Given the description of an element on the screen output the (x, y) to click on. 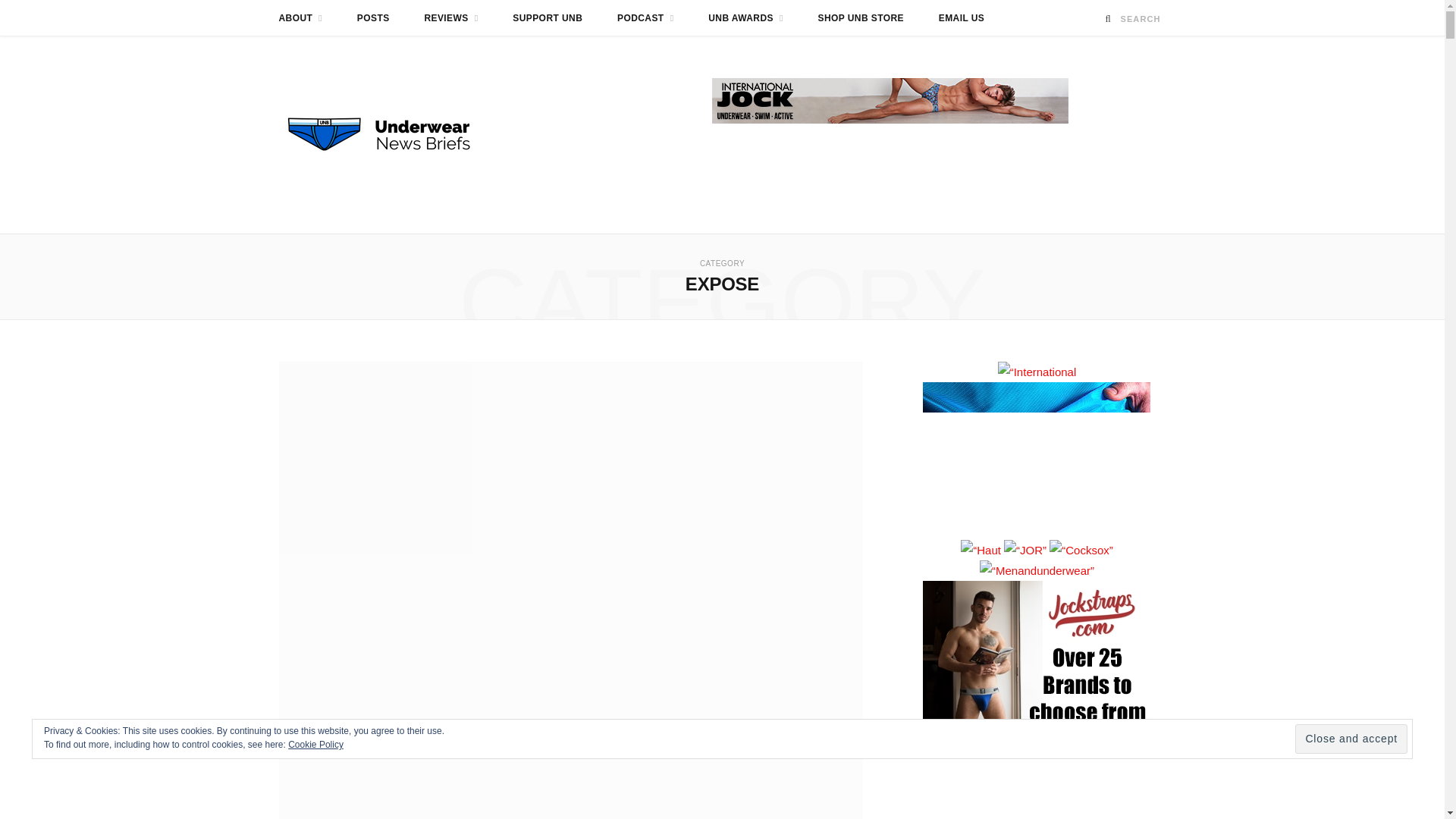
SUPPORT UNB (547, 18)
PODCAST (644, 18)
REVIEWS (450, 18)
ABOUT (299, 18)
Underwear News Briefs (392, 134)
POSTS (373, 18)
SHOP UNB STORE (861, 18)
Close and accept (1351, 738)
EMAIL US (961, 18)
